Given the description of an element on the screen output the (x, y) to click on. 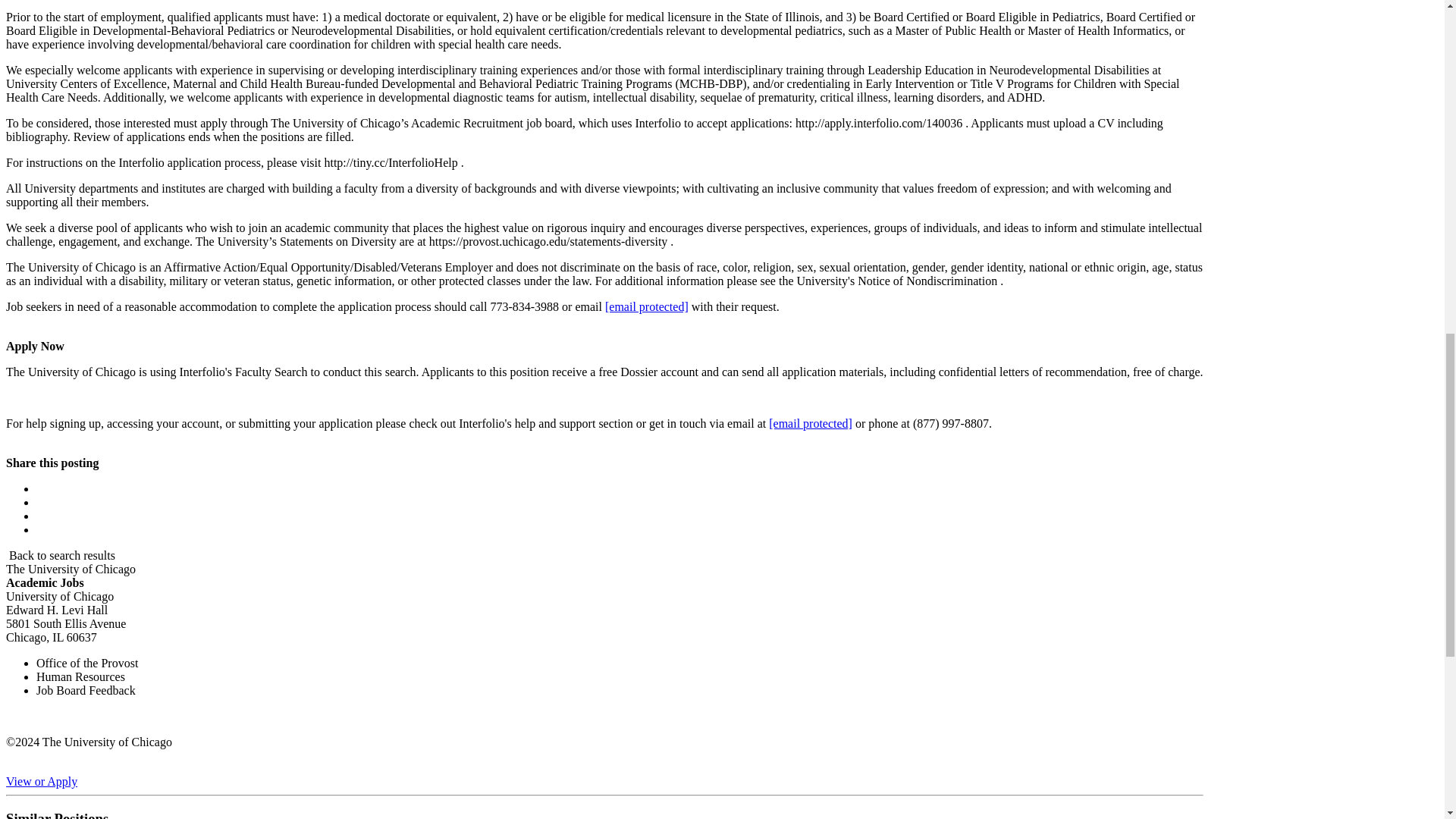
View or Apply (41, 780)
